Given the description of an element on the screen output the (x, y) to click on. 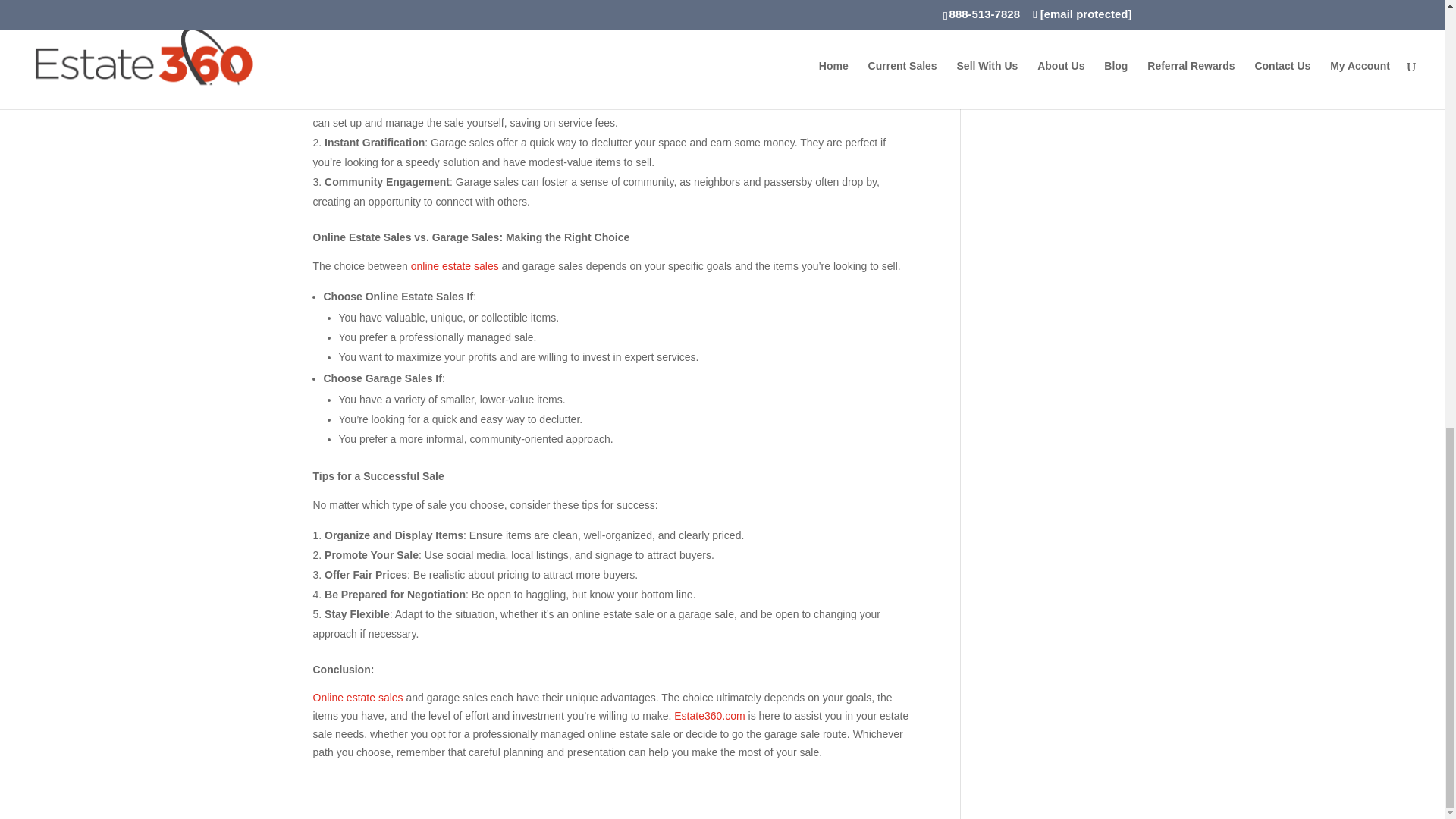
Online estate sales (358, 697)
Estate360.com (591, 18)
hiring a professional company (809, 102)
Estate360.com (709, 715)
online estate sales (454, 265)
